Given the description of an element on the screen output the (x, y) to click on. 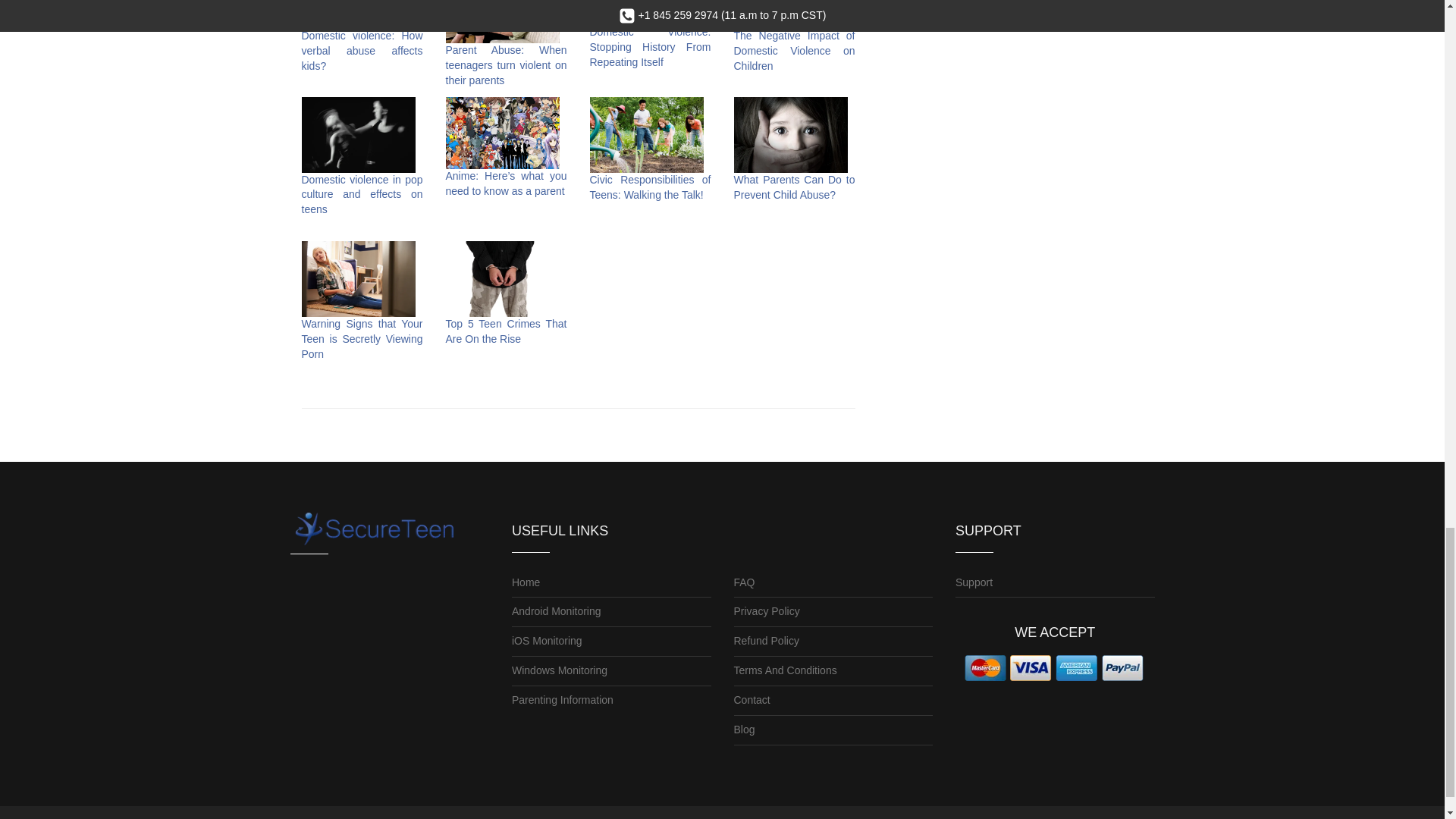
Domestic Violence: Stopping History From Repeating Itself (650, 46)
Warning Signs that Your Teen is Secretly Viewing Porn (362, 338)
What Parents Can Do to Prevent Child Abuse? (794, 186)
Domestic violence: How verbal abuse affects kids? (362, 50)
Civic Responsibilities of Teens: Walking the Talk! (650, 186)
The Negative Impact of Domestic Violence on Children (794, 50)
Parent Abuse: When teenagers turn violent on their parents (506, 65)
Domestic violence in pop culture and effects on teens (362, 193)
Top 5 Teen Crimes That Are On the Rise (506, 330)
